Given the description of an element on the screen output the (x, y) to click on. 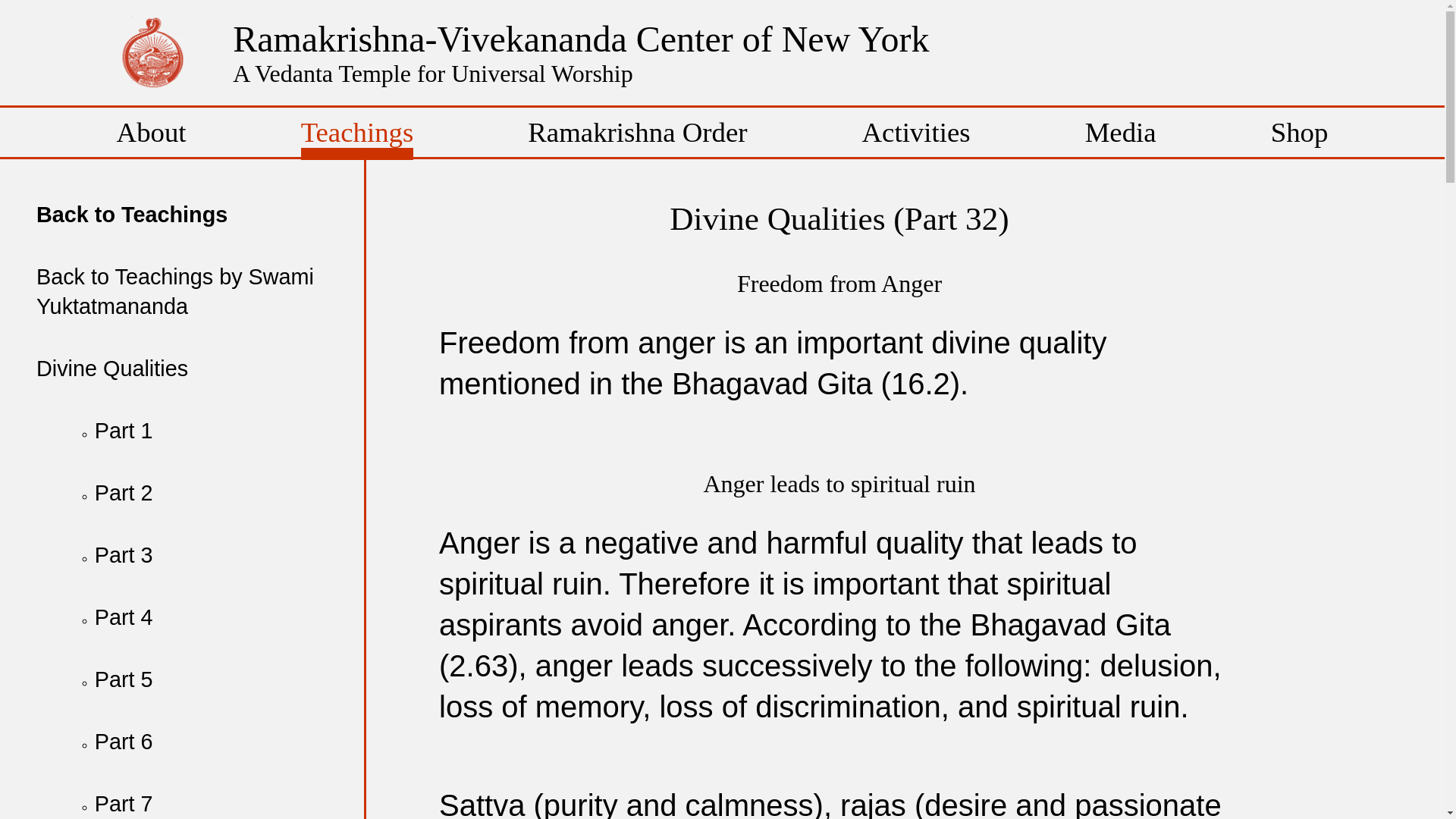
Teachings (357, 138)
Activities (916, 132)
Media (1120, 132)
Ramakrishna Order (636, 132)
Shop (1299, 132)
About (151, 132)
